Given the description of an element on the screen output the (x, y) to click on. 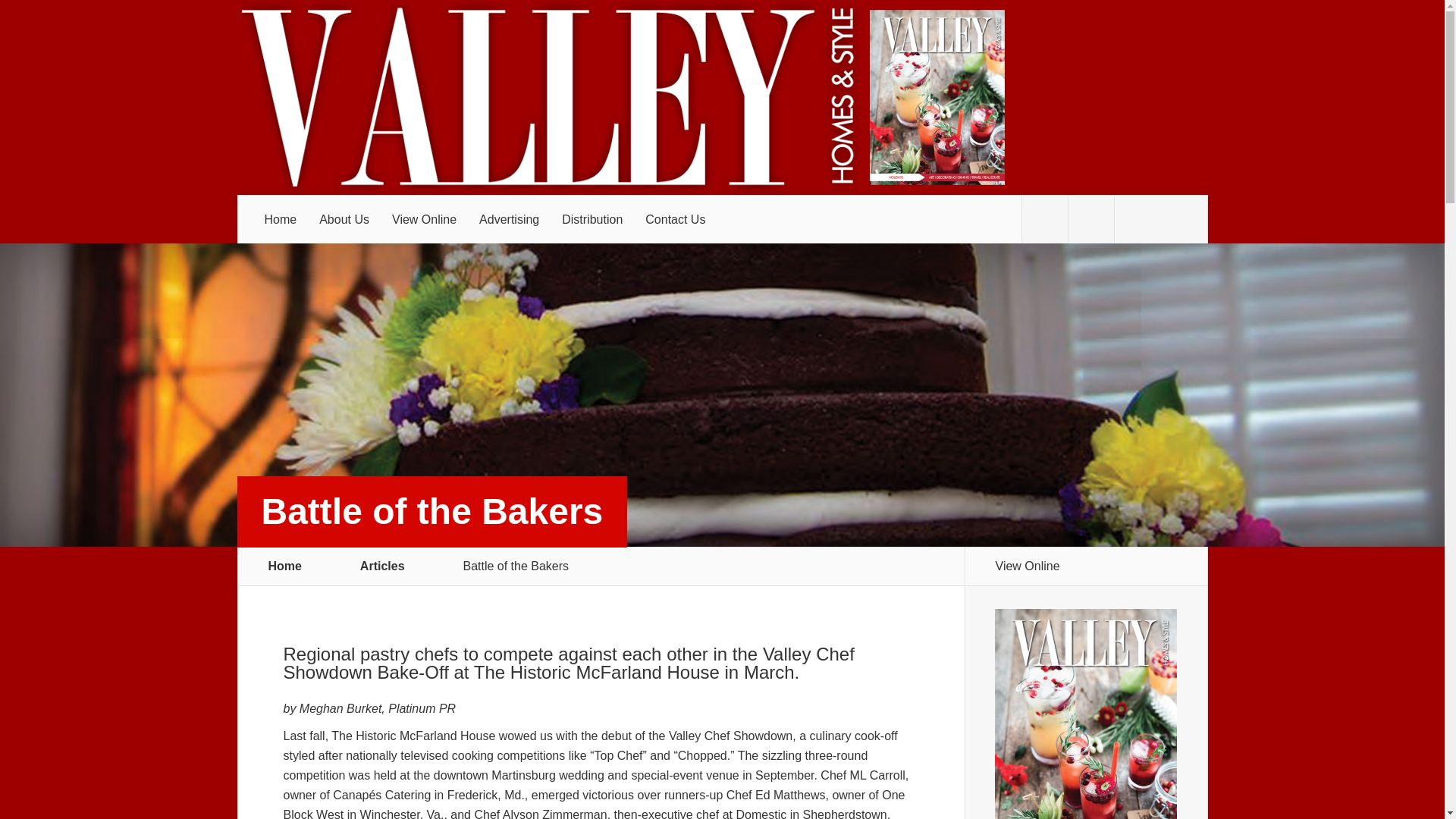
View Online (423, 219)
About Us (343, 219)
Home (280, 219)
Subscribe To Rss Feed (1137, 219)
Articles (391, 565)
Home (285, 565)
Follow us on Twitter (1044, 219)
Contact Us (674, 219)
Follow us on Facebook (1090, 219)
Advertising (508, 219)
